Given the description of an element on the screen output the (x, y) to click on. 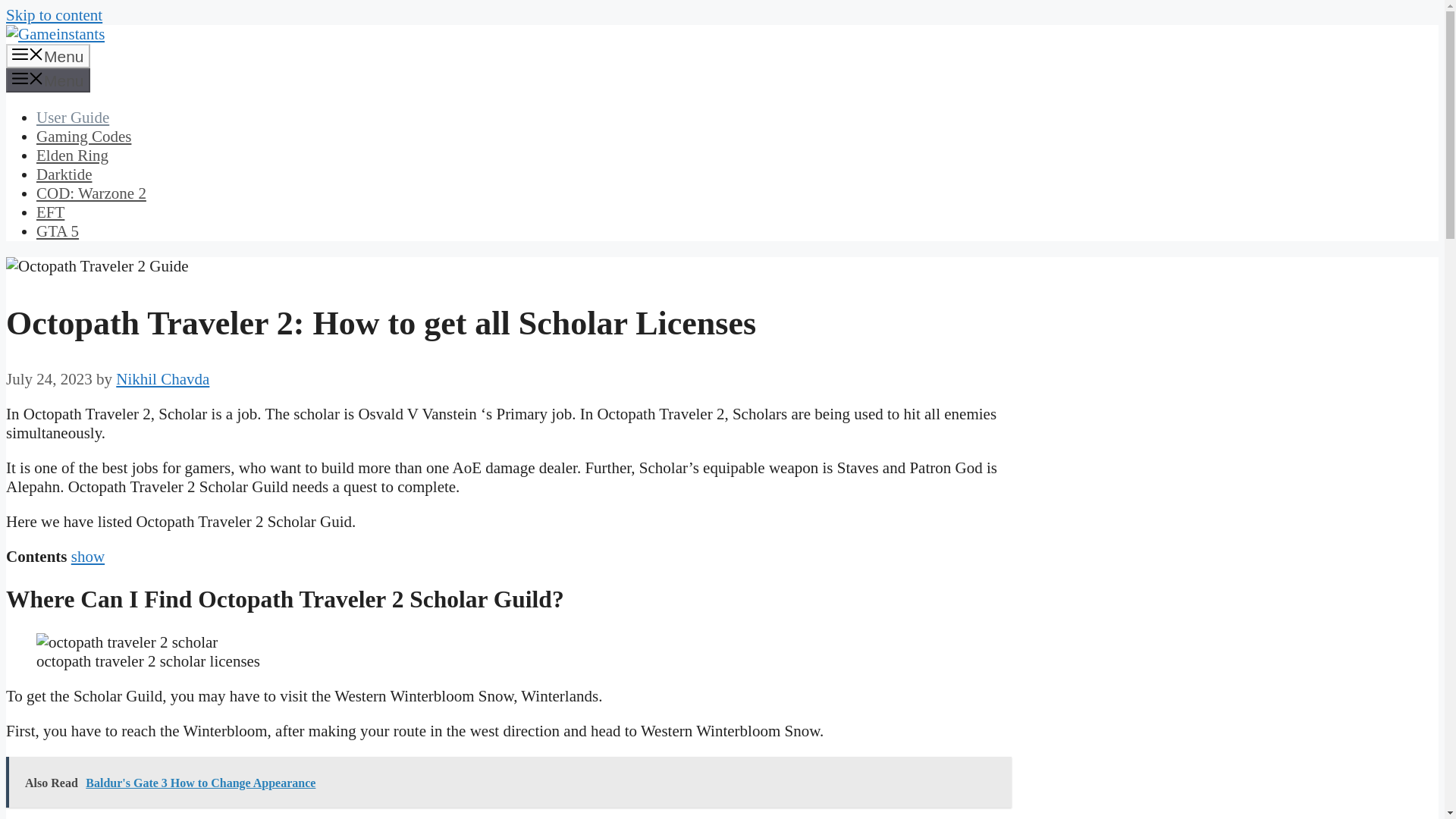
Nikhil Chavda (162, 379)
EFT (50, 212)
Also Read  Baldur's Gate 3 How to Change Appearance (508, 781)
View all posts by Nikhil Chavda (162, 379)
Menu (47, 79)
show (87, 556)
Skip to content (53, 14)
Menu (47, 55)
